Given the description of an element on the screen output the (x, y) to click on. 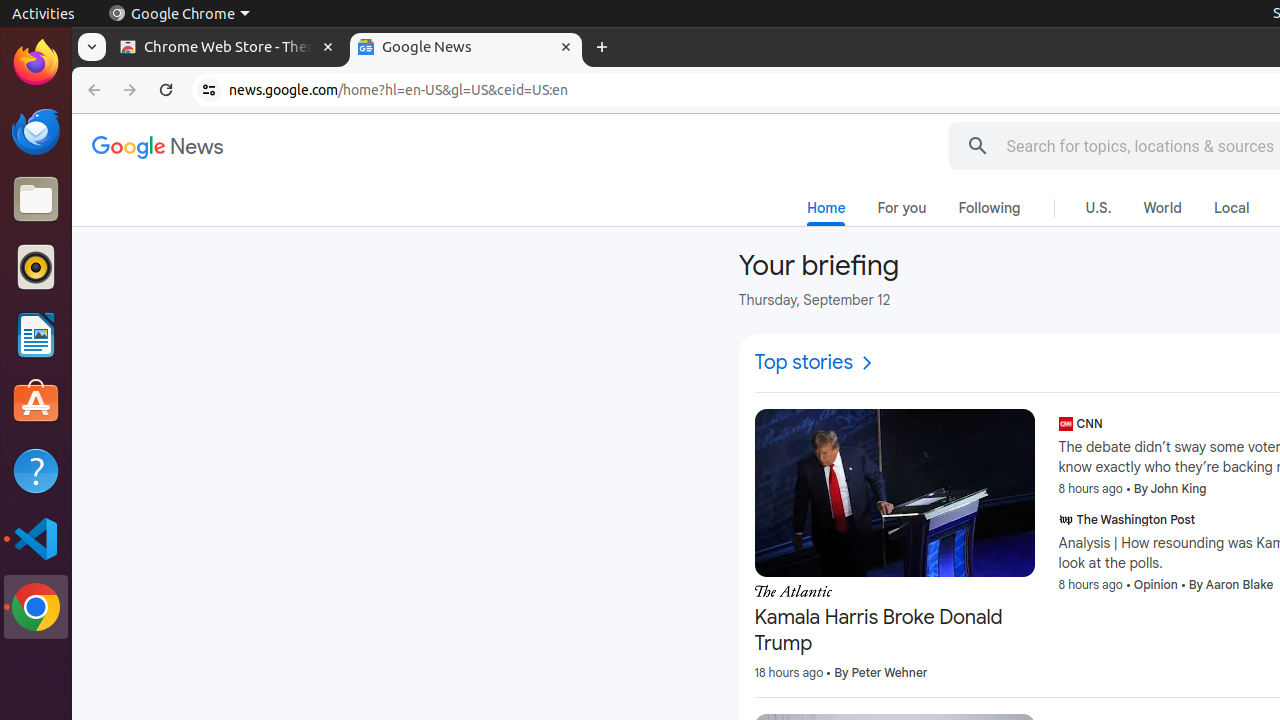
Following Element type: menu-item (989, 208)
Ubuntu Software Element type: push-button (36, 402)
Google News Element type: link (158, 148)
Google Chrome Element type: menu (179, 13)
Back Element type: push-button (91, 90)
